Given the description of an element on the screen output the (x, y) to click on. 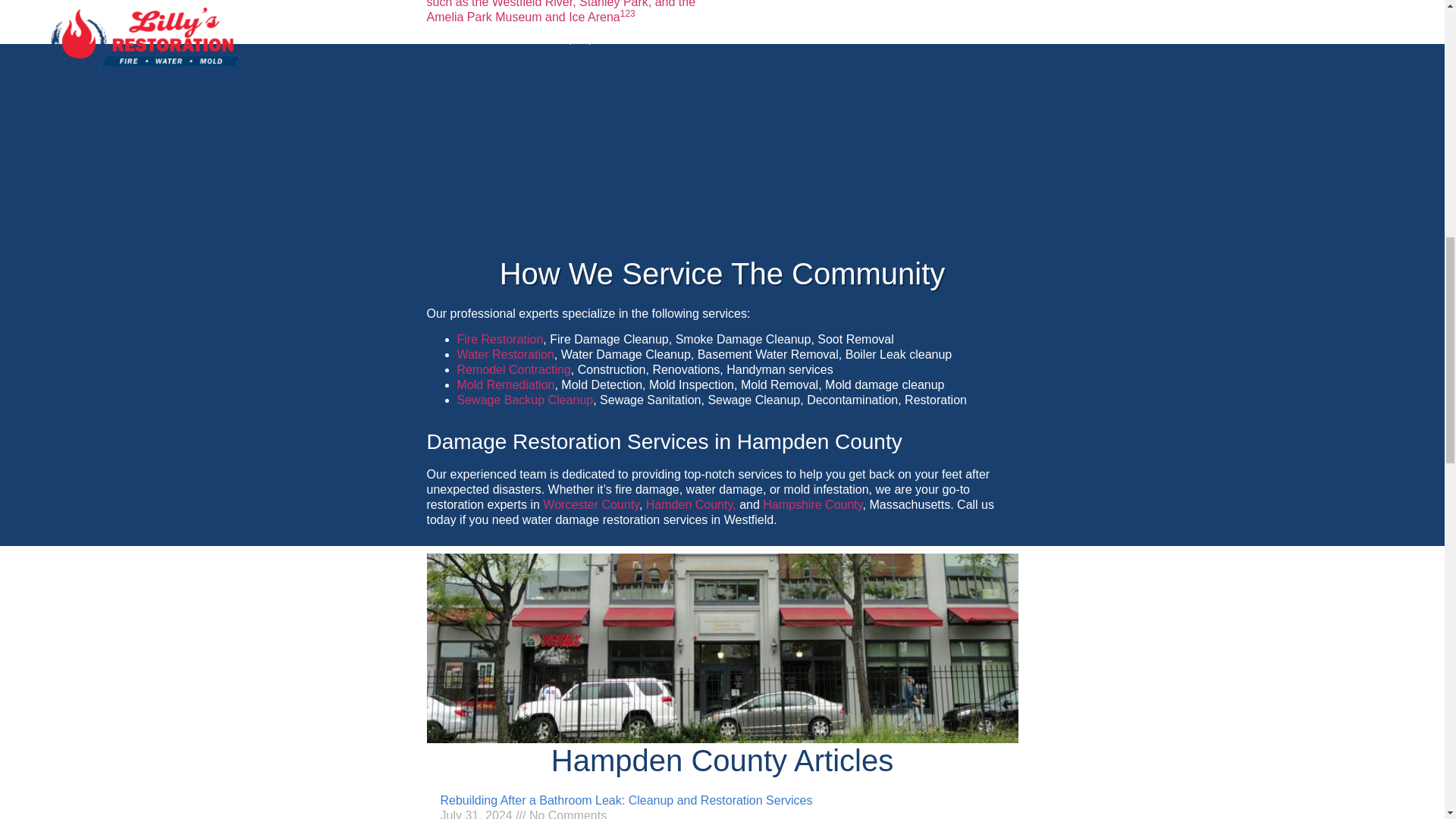
Remodel Contracting (513, 369)
Mold Remediation (505, 384)
Water Restoration (505, 354)
Sewage Backup Cleanup (524, 399)
Fire Restoration (500, 338)
Hamden County, (691, 504)
Hampshire County (811, 504)
Worcester County (591, 504)
